Given the description of an element on the screen output the (x, y) to click on. 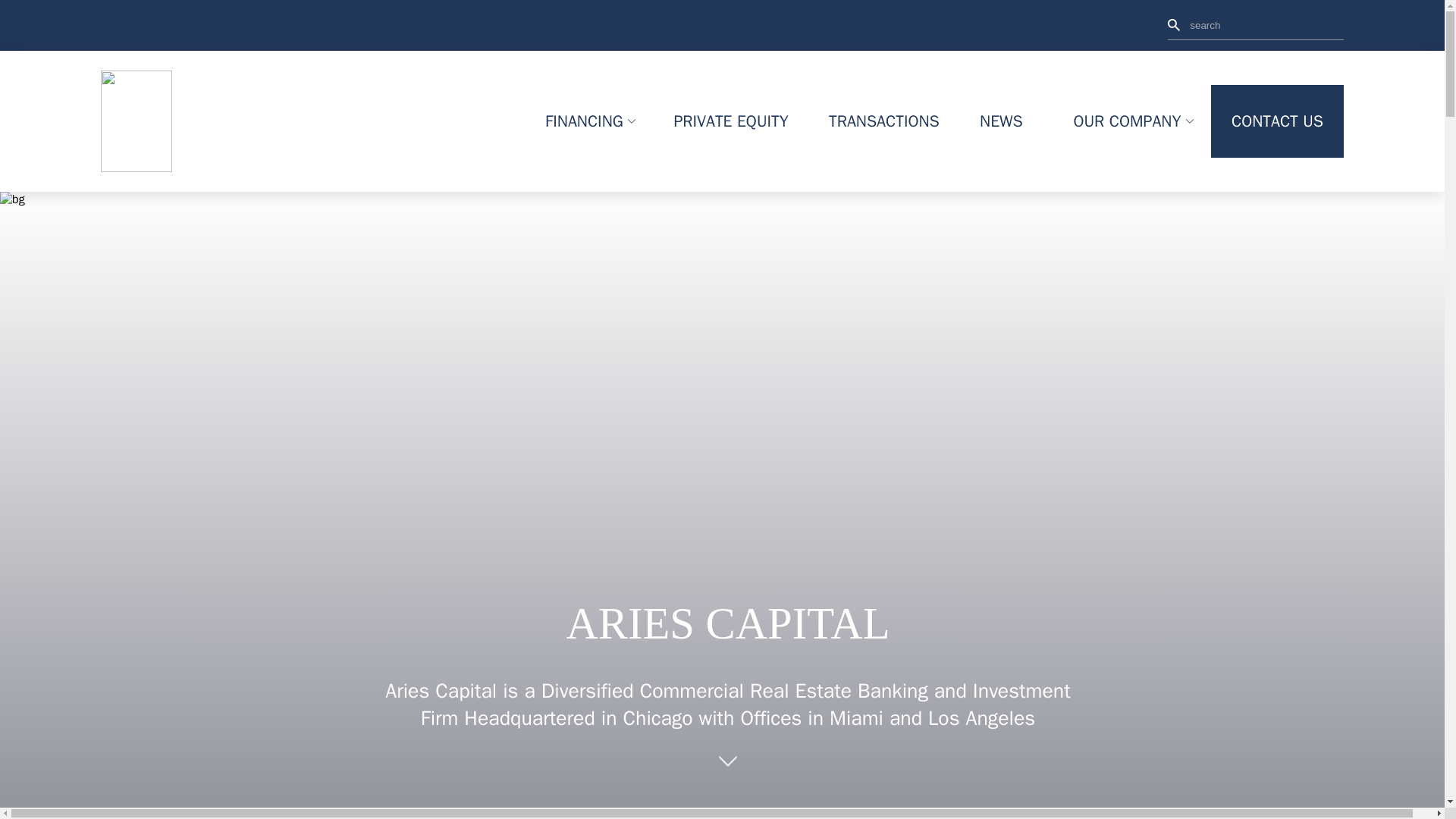
TRANSACTIONS (883, 121)
PRIVATE EQUITY (731, 121)
CONTACT US (1276, 121)
NEWS (1000, 121)
OUR COMPANY (1126, 121)
FINANCING (584, 121)
